Given the description of an element on the screen output the (x, y) to click on. 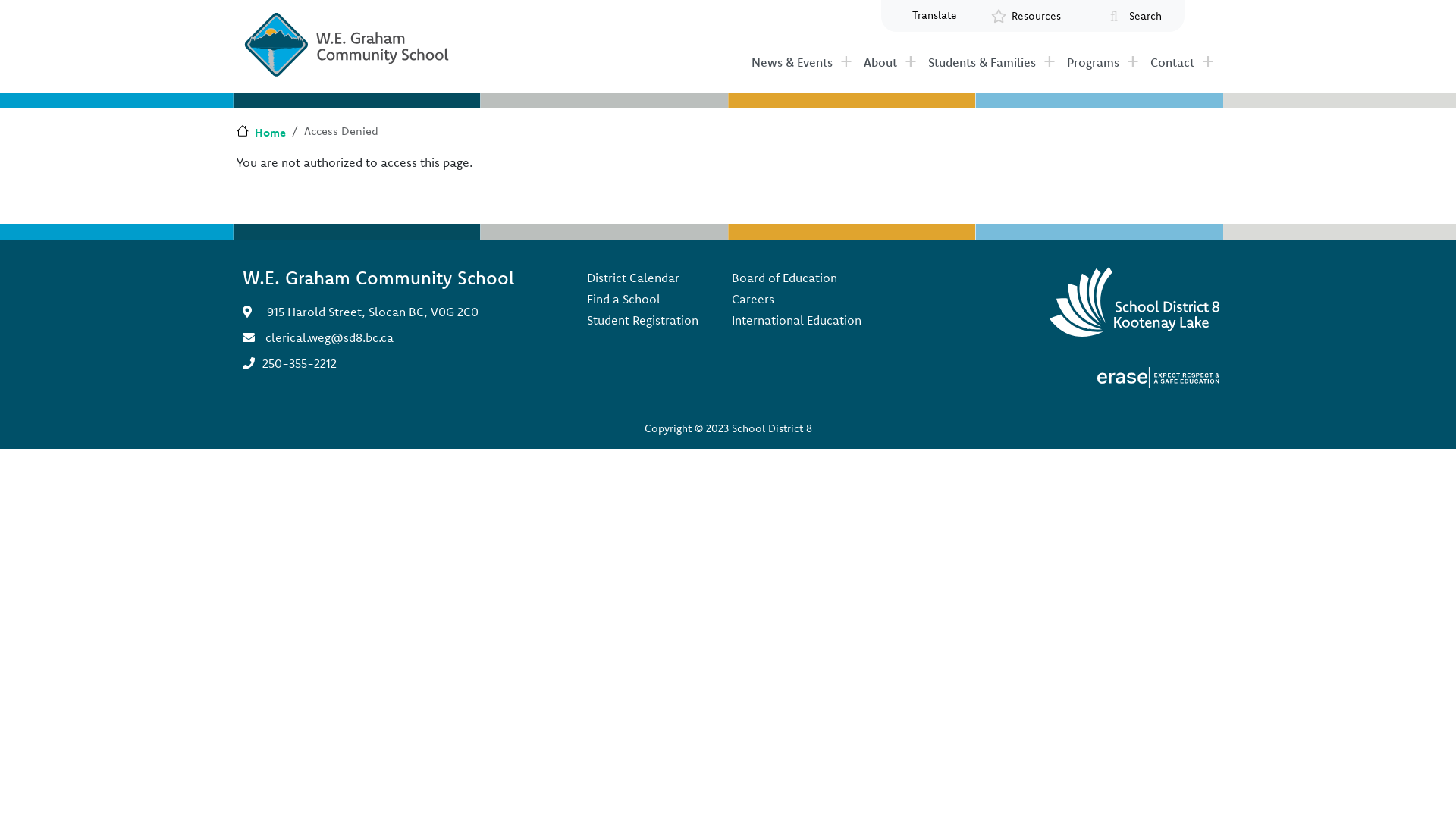
Resources Element type: text (1036, 16)
Home Element type: text (260, 132)
International Education Element type: text (796, 319)
Translate Element type: text (933, 15)
Search Element type: text (1145, 15)
Careers Element type: text (796, 298)
District Calendar Element type: text (642, 277)
250-355-2212 Element type: text (299, 362)
Student Registration Element type: text (642, 319)
clerical.weg@sd8.bc.ca Element type: text (329, 337)
Find a School Element type: text (642, 298)
Board of Education Element type: text (796, 277)
